Given the description of an element on the screen output the (x, y) to click on. 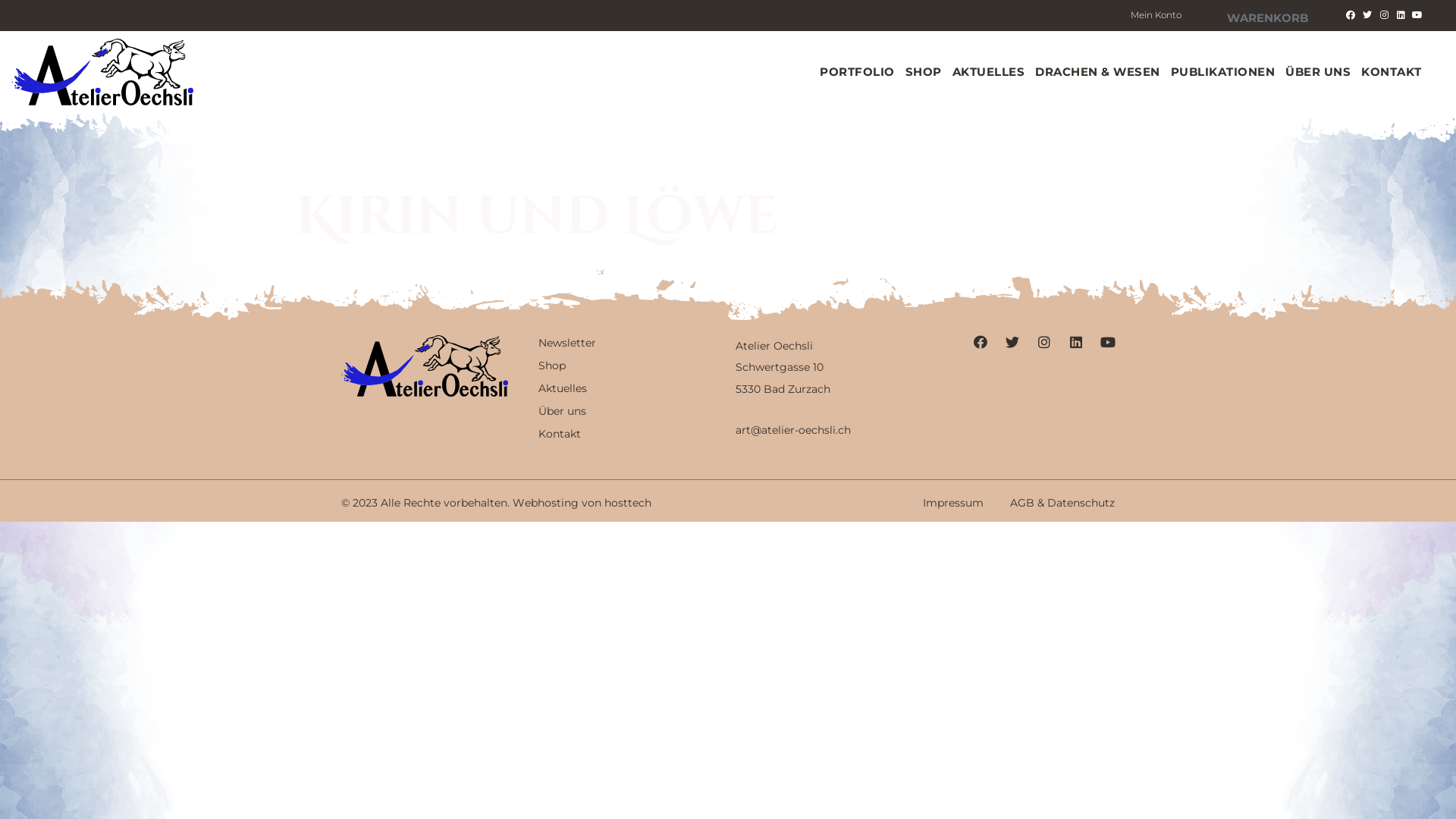
PUBLIKATIONEN Element type: text (1222, 71)
Aktuelles Element type: text (629, 387)
Mein Konto Element type: text (1155, 14)
KONTAKT Element type: text (1391, 71)
Kontakt Element type: text (629, 433)
Impressum Element type: text (952, 502)
SHOP Element type: text (923, 71)
Shop Element type: text (629, 365)
Webhosting von hosttech Element type: text (581, 502)
AKTUELLES Element type: text (988, 71)
AGB & Datenschutz Element type: text (1062, 502)
DRACHEN & WESEN Element type: text (1097, 71)
PORTFOLIO Element type: text (856, 71)
Newsletter Element type: text (629, 342)
